Given the description of an element on the screen output the (x, y) to click on. 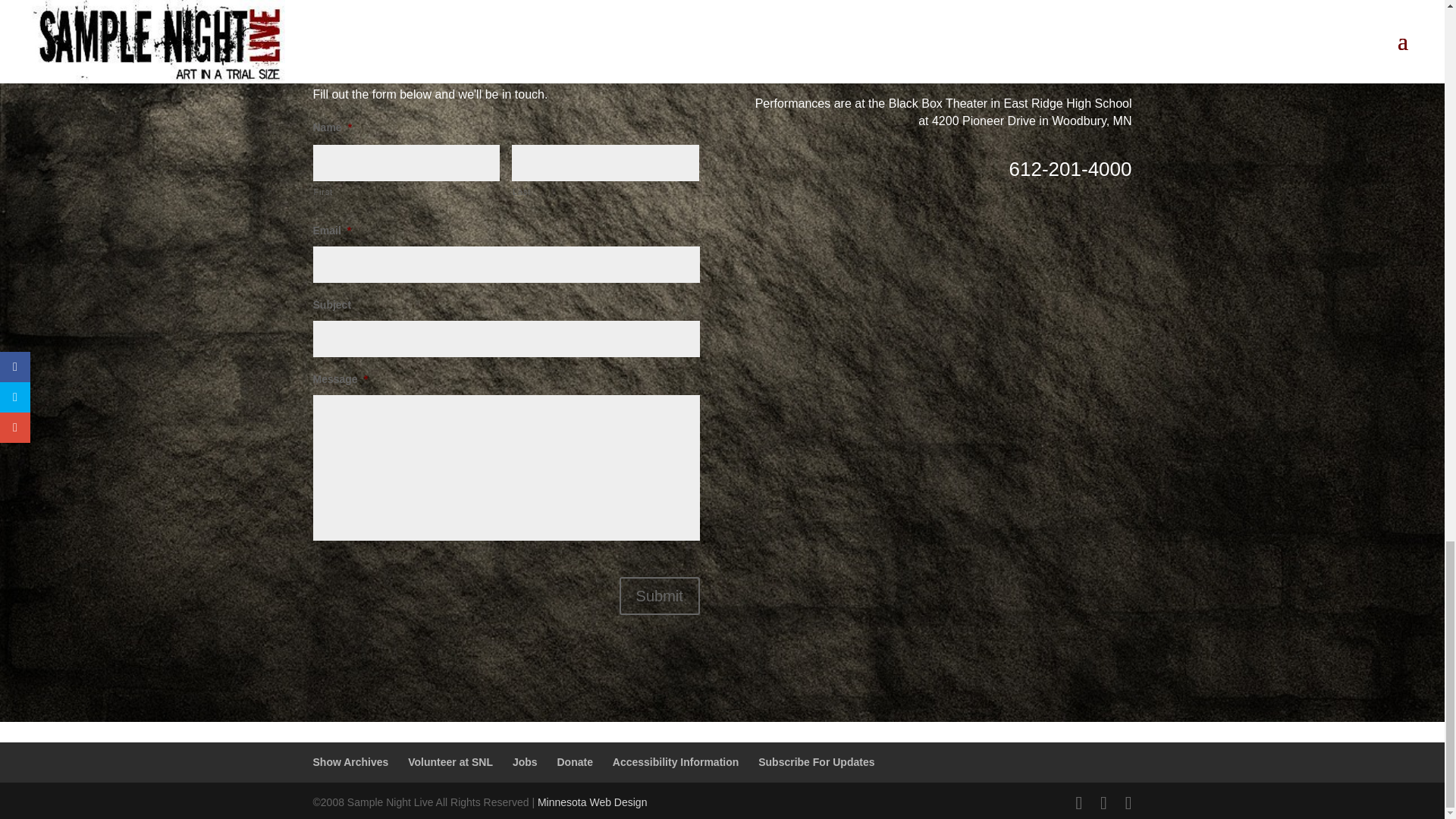
Volunteer at SNL (450, 761)
Jobs (524, 761)
Minnesota Web Design (591, 802)
Accessibility Information (675, 761)
Show Archives (350, 761)
Donate (574, 761)
Submit (660, 596)
Subscribe For Updates (816, 761)
Submit (660, 596)
